Given the description of an element on the screen output the (x, y) to click on. 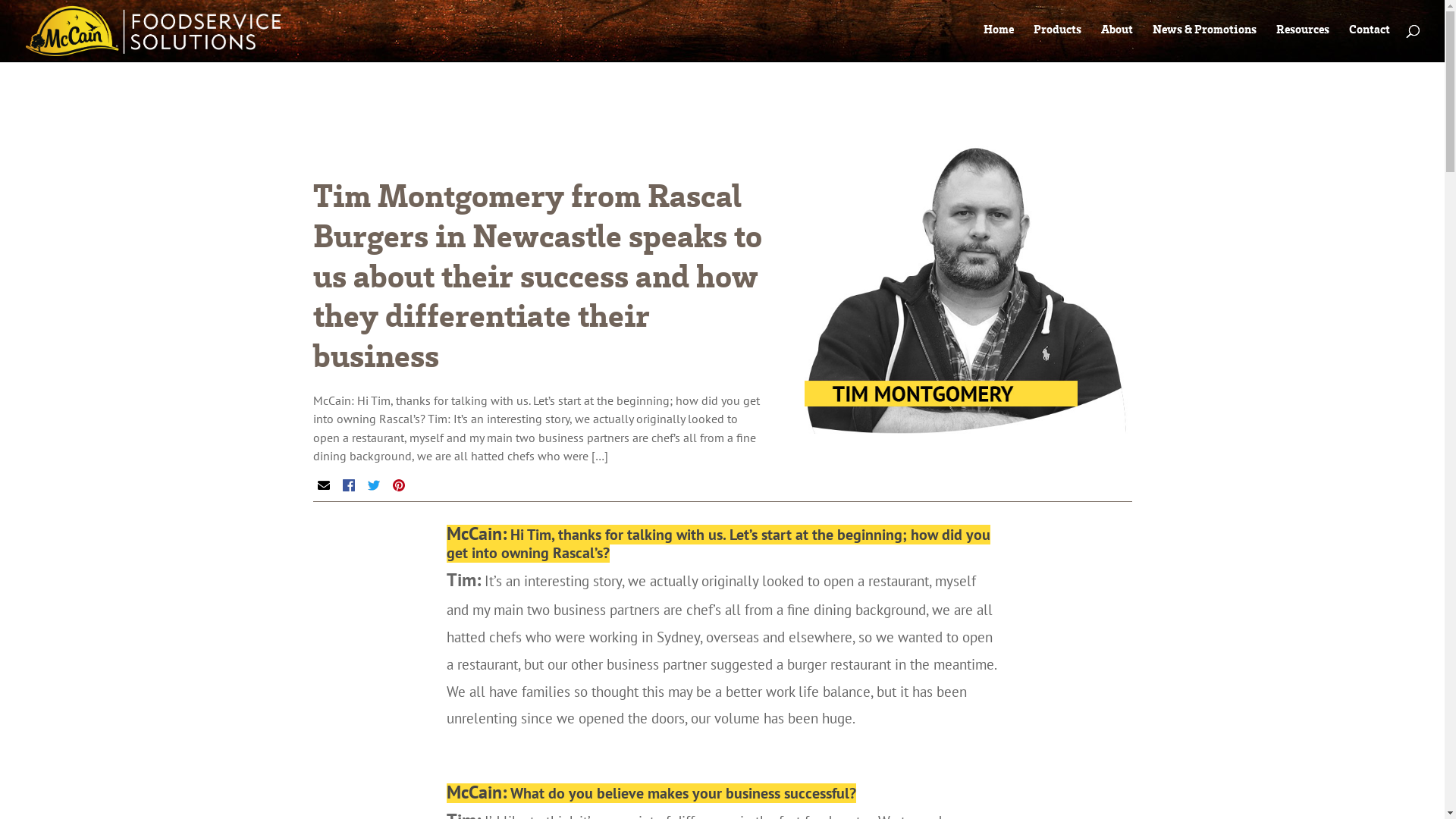
Share Element type: text (348, 485)
About Element type: text (1116, 32)
Home Element type: text (998, 32)
News & Promotions Element type: text (1204, 32)
Resources Element type: text (1302, 32)
Contact Element type: text (1369, 32)
Email Element type: text (322, 485)
Pin It Element type: text (398, 485)
Products Element type: text (1057, 32)
Tweet Element type: text (373, 485)
